Given the description of an element on the screen output the (x, y) to click on. 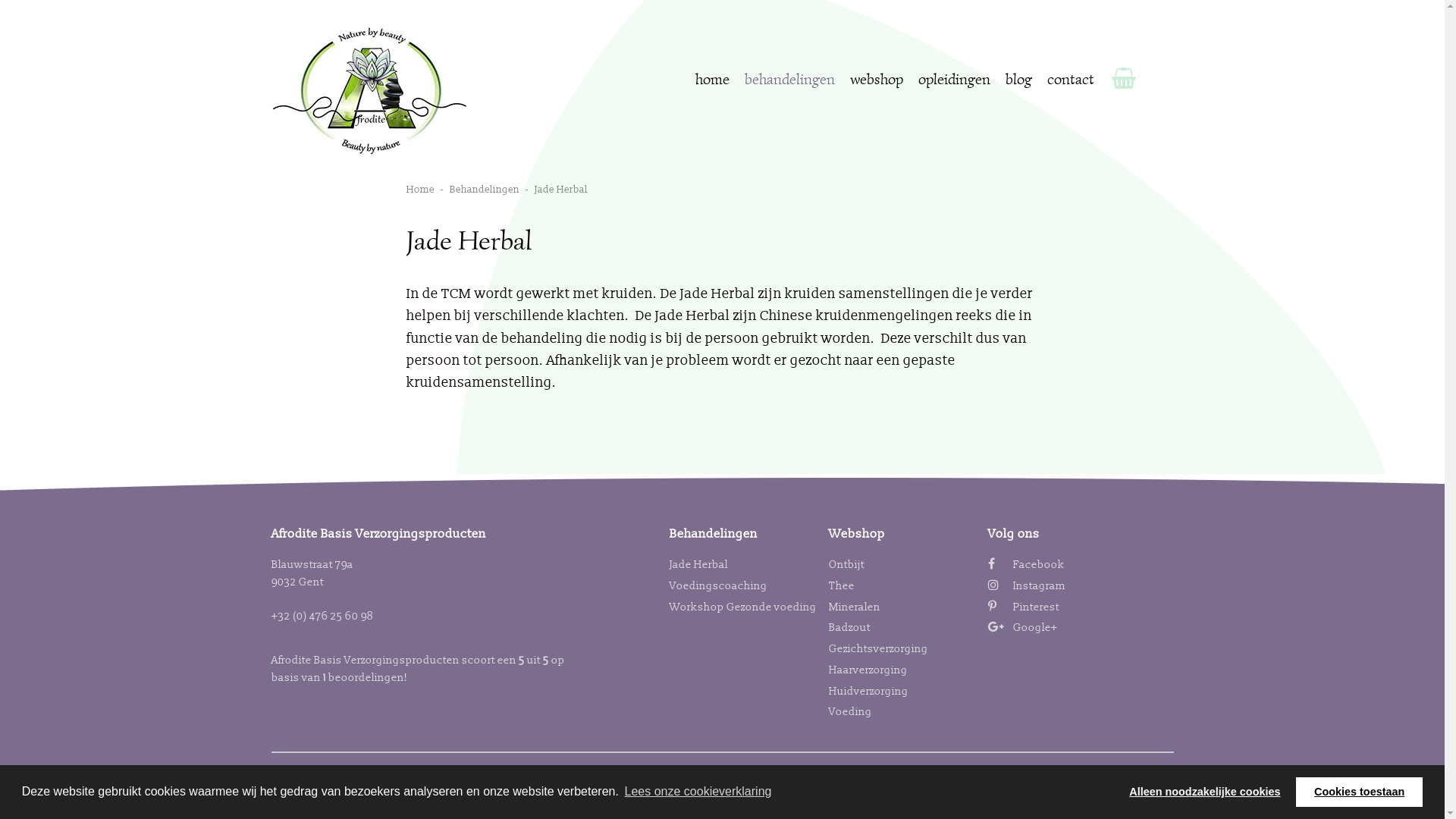
Pinterest Element type: text (1022, 606)
Instagram Element type: text (1025, 585)
blog Element type: text (1018, 79)
+32 (0) 476 25 60 98 Element type: text (322, 615)
1 Element type: text (324, 677)
Facebook Element type: text (1025, 564)
Workshop Gezonde voeding Element type: text (741, 606)
Thee Element type: text (840, 585)
Cookies toestaan Element type: text (1358, 791)
Badzout Element type: text (848, 627)
Gezichtsverzorging Element type: text (877, 648)
Behandelingen Element type: text (486, 189)
behandelingen Element type: text (789, 79)
Google+ Element type: text (1022, 627)
Huidverzorging Element type: text (867, 690)
Webshop door Nederdesign.nl Element type: text (755, 771)
contact Element type: text (1069, 79)
Jade Herbal Element type: text (697, 564)
Alleen noodzakelijke cookies Element type: text (1204, 791)
Lees onze cookieverklaring Element type: text (697, 791)
Home Element type: text (422, 189)
Haarverzorging Element type: text (867, 669)
Voedingscoaching Element type: text (717, 585)
opleidingen Element type: text (953, 79)
Cookieverklaring Element type: text (625, 771)
Mineralen Element type: text (853, 606)
Afrodite Verzorgingsproducten Element type: text (369, 90)
Voeding Element type: text (849, 711)
Privacyverklaring Element type: text (527, 771)
home Element type: text (711, 79)
Jade Herbal Element type: text (562, 189)
webshop Element type: text (875, 79)
Ontbijt Element type: text (845, 564)
